Given the description of an element on the screen output the (x, y) to click on. 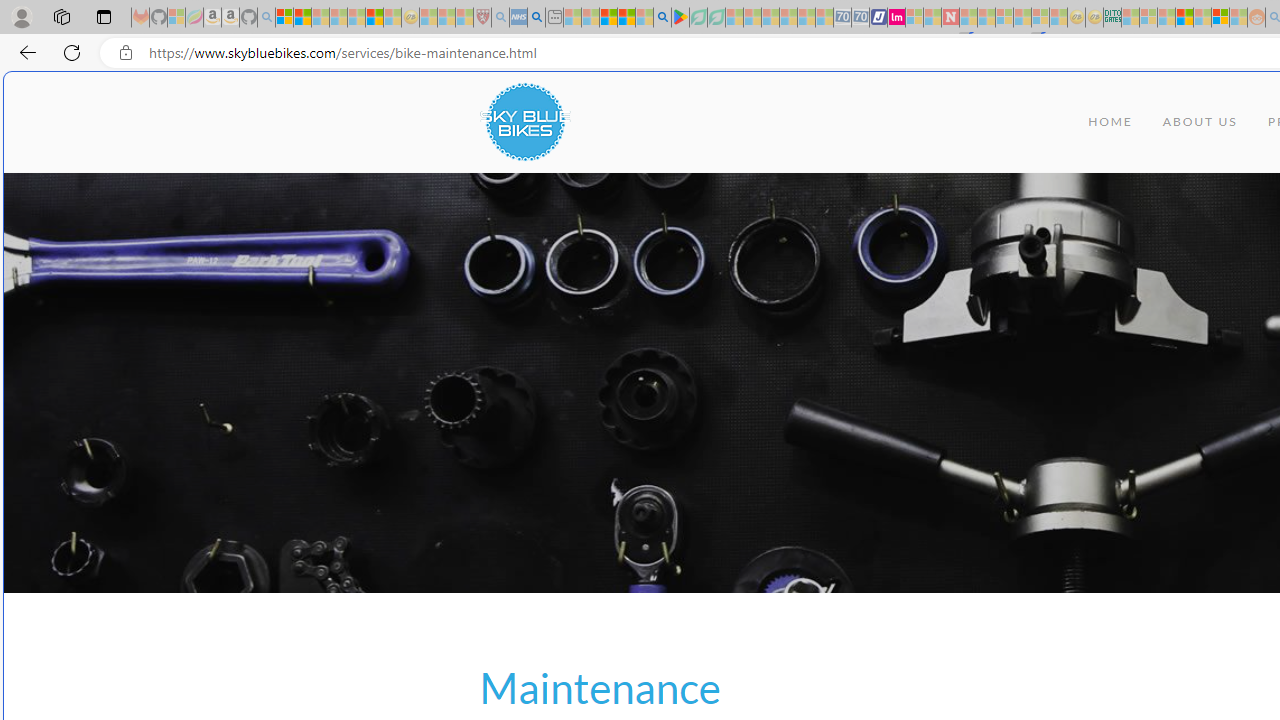
Cheap Hotels - Save70.com - Sleeping (860, 17)
Local - MSN - Sleeping (464, 17)
Latest Politics News & Archive | Newsweek.com - Sleeping (950, 17)
